Given the description of an element on the screen output the (x, y) to click on. 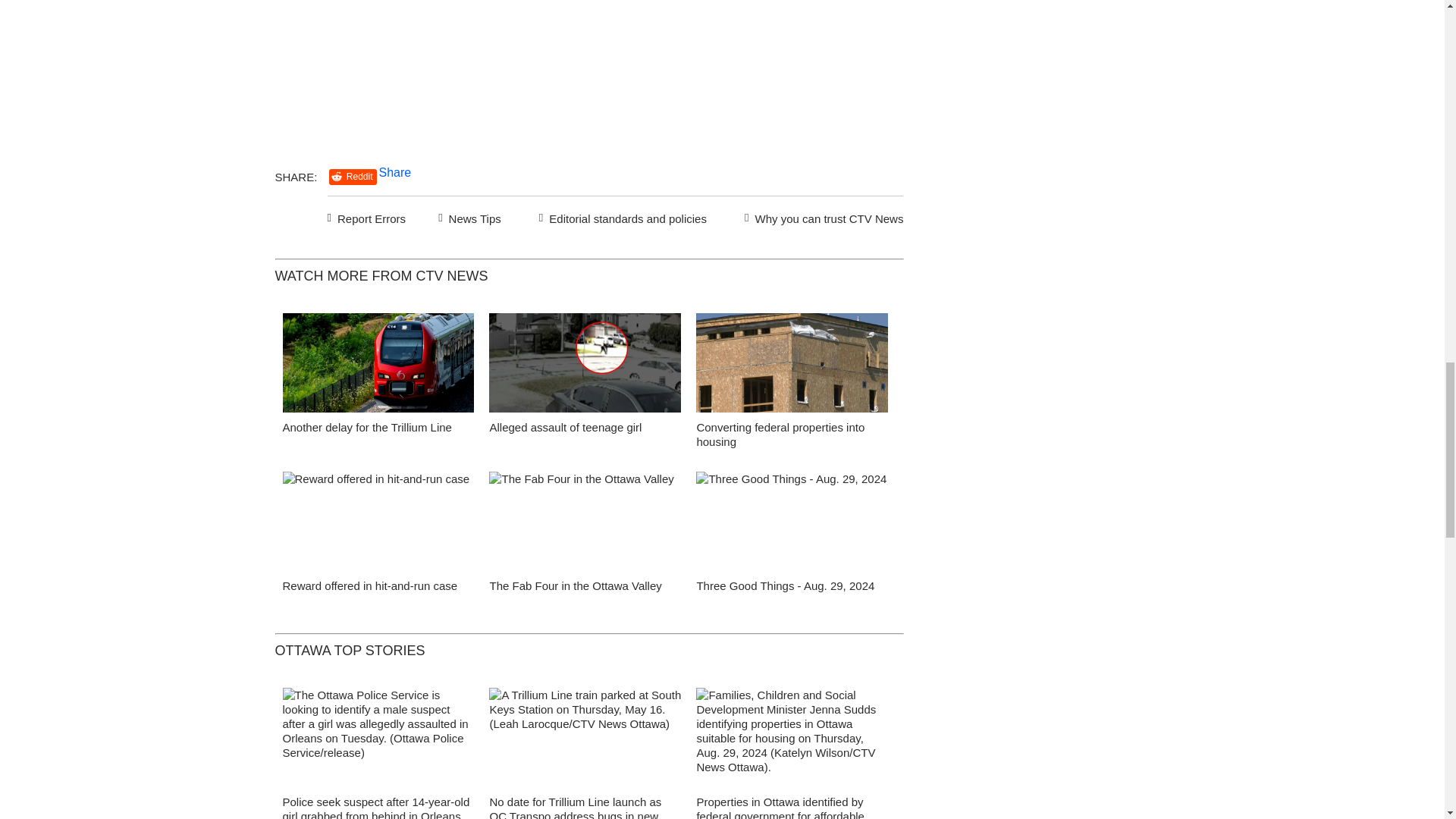
Alleged assault of teenage girl (565, 427)
Reddit (353, 176)
Converting federal properties into housing (779, 433)
Report Errors (366, 216)
false (791, 520)
Editorial standards and policies (620, 216)
false (585, 520)
Three Good Things - Aug. 29, 2024 (785, 585)
false (378, 520)
